Given the description of an element on the screen output the (x, y) to click on. 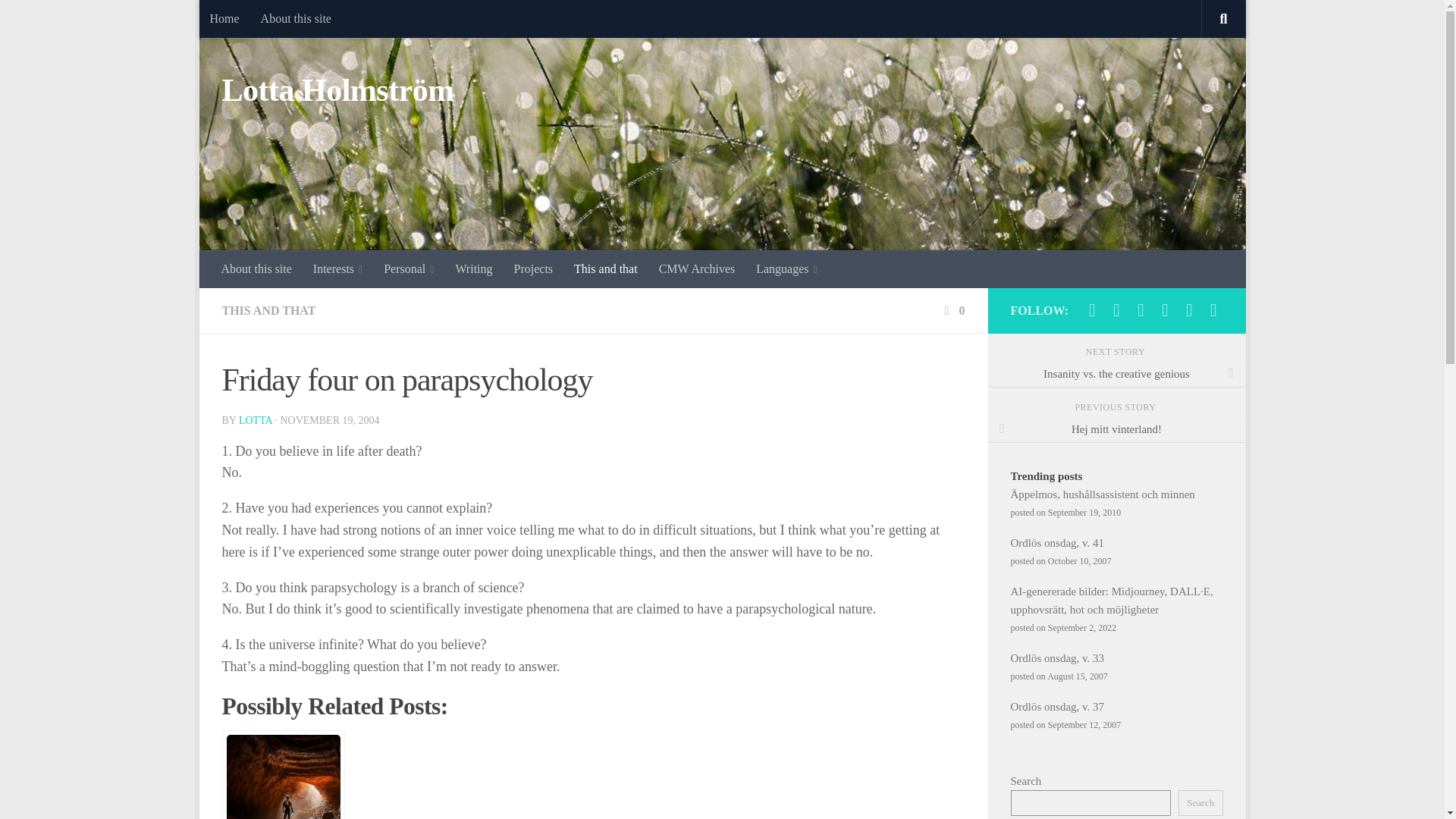
Follow me with Rss (1213, 310)
Follow me on Flickr (1140, 310)
THIS AND THAT (268, 309)
Languages (786, 269)
0 (951, 309)
Follow me on Linkedin (1188, 310)
CMW Archives (696, 269)
Interests (337, 269)
About this site (296, 18)
Personal (408, 269)
